Given the description of an element on the screen output the (x, y) to click on. 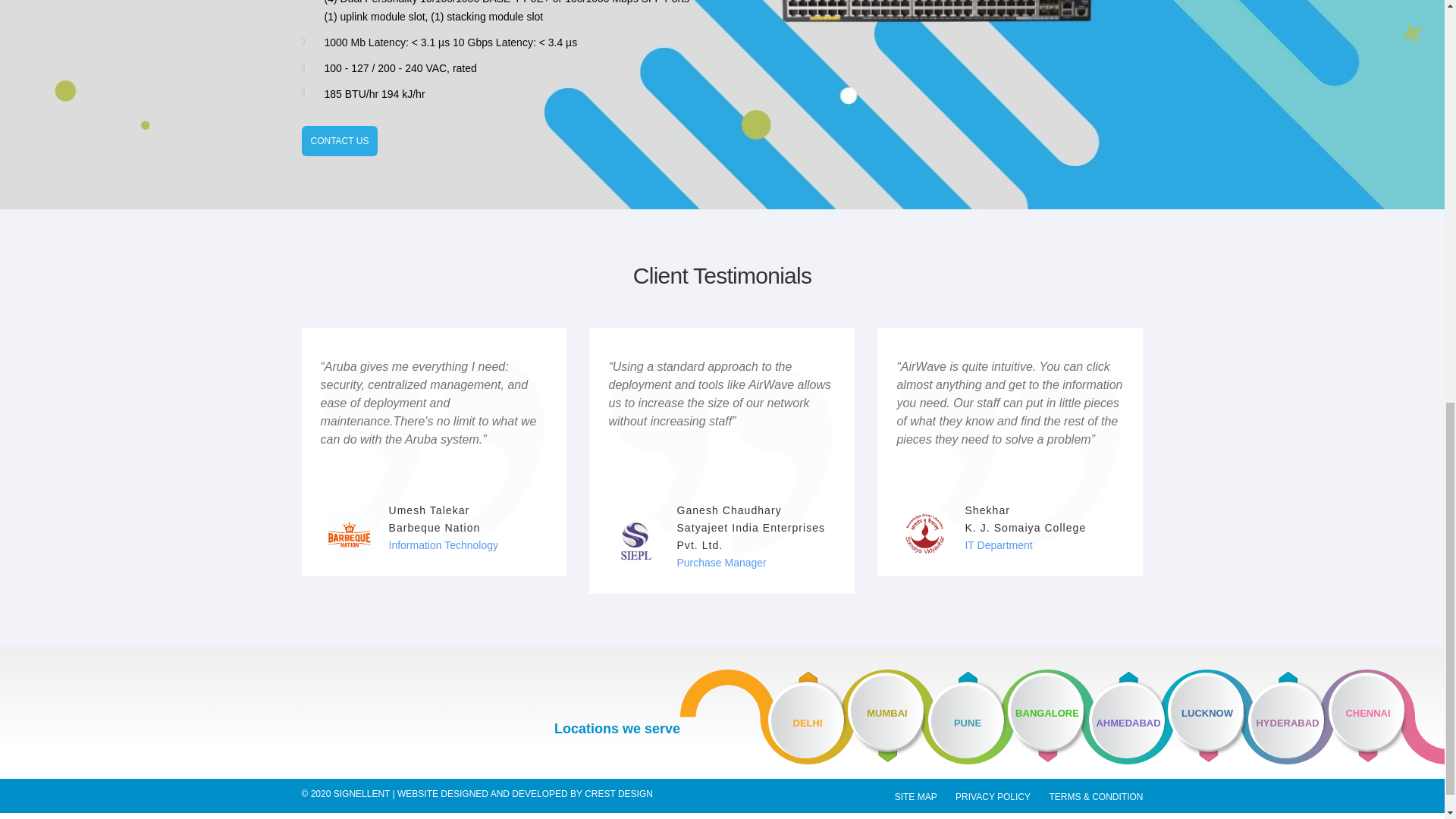
CONTACT US (339, 141)
Locations we serve (616, 729)
CHENNAI (1385, 716)
